Given the description of an element on the screen output the (x, y) to click on. 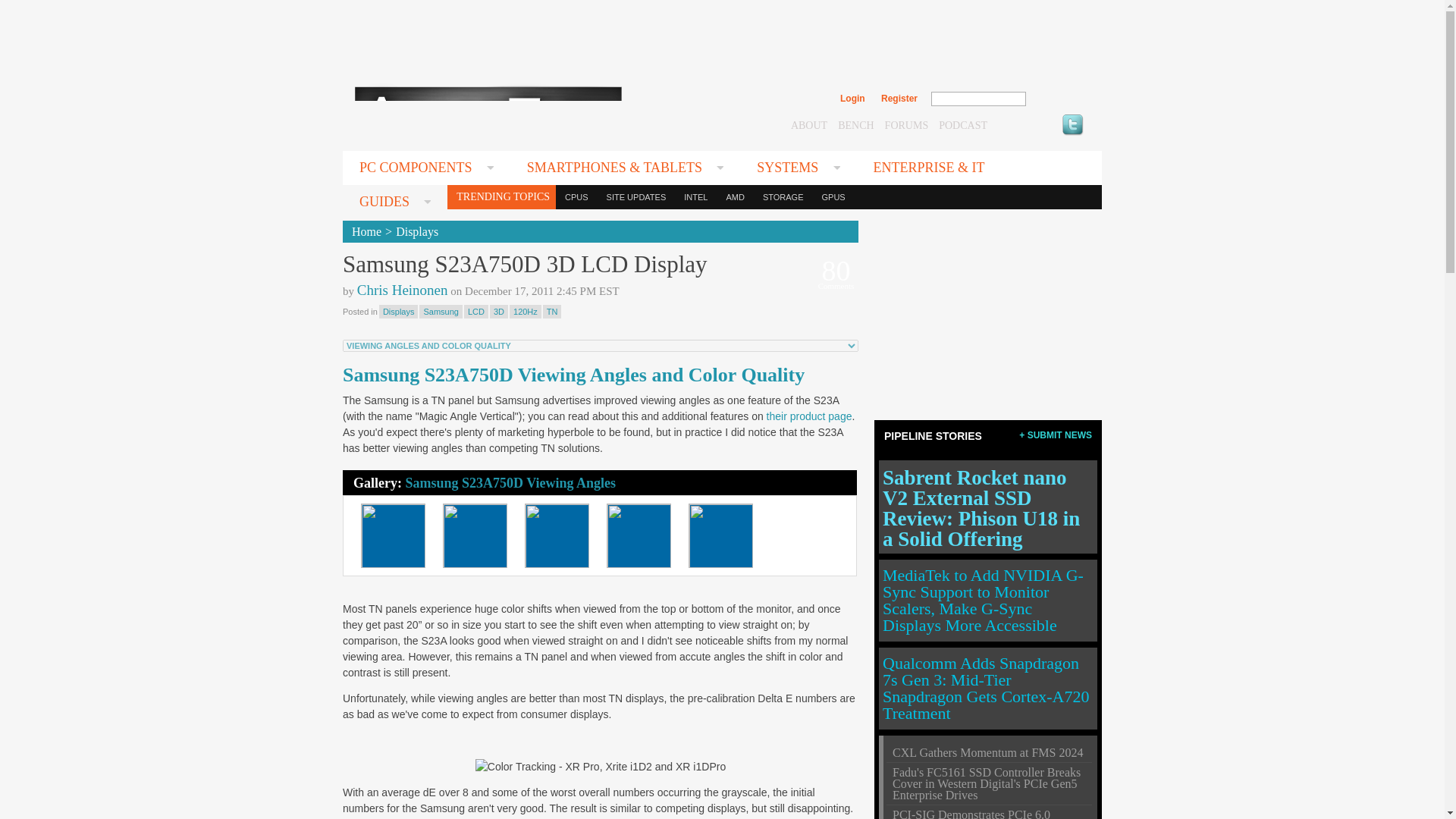
ABOUT (808, 125)
FORUMS (906, 125)
search (1059, 98)
BENCH (855, 125)
Login (852, 98)
PODCAST (963, 125)
Register (898, 98)
search (1059, 98)
search (1059, 98)
